Given the description of an element on the screen output the (x, y) to click on. 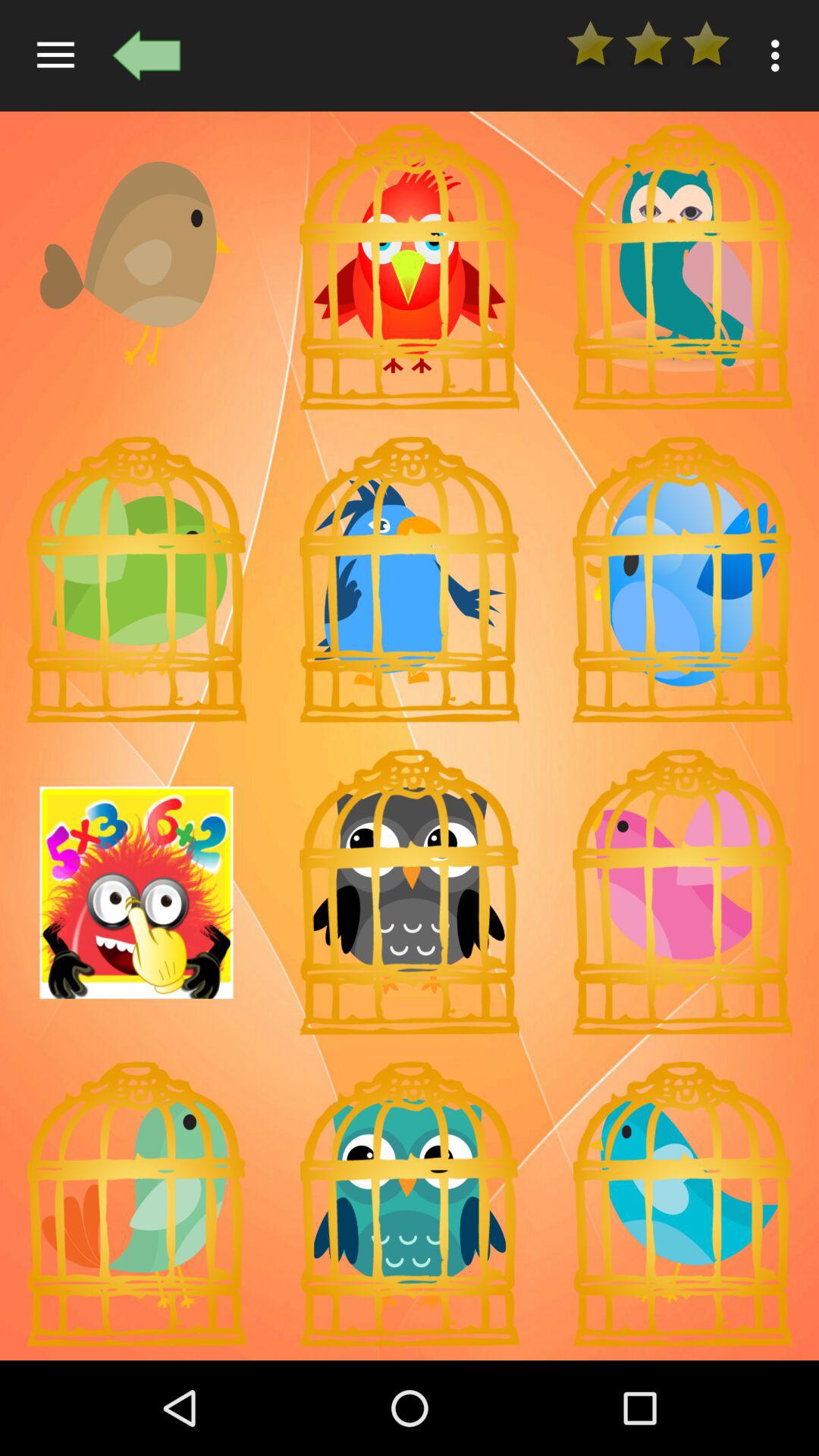
chooses this emoji (409, 1204)
